Given the description of an element on the screen output the (x, y) to click on. 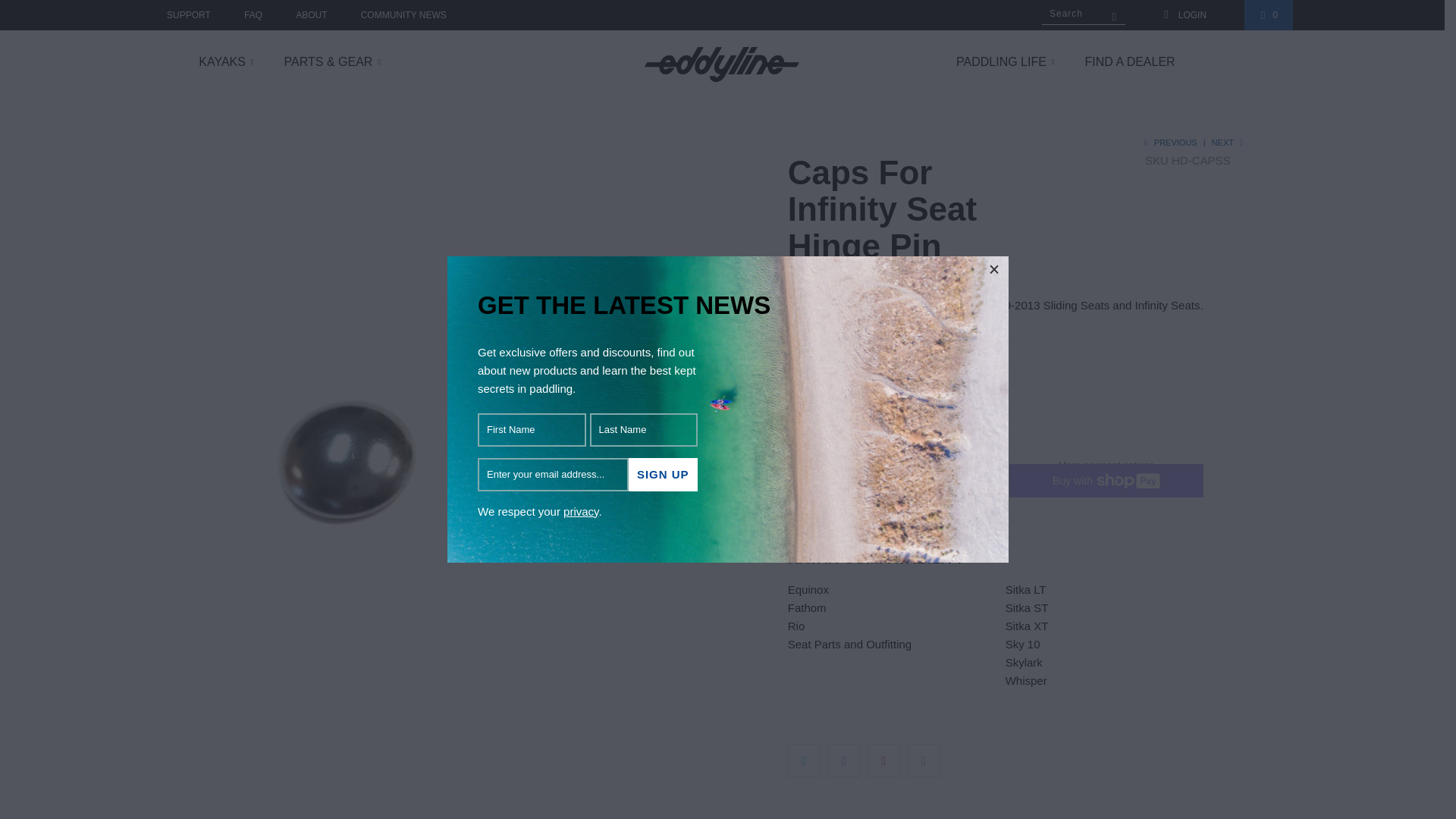
Share this on Facebook (843, 760)
Previous (1168, 142)
1 (896, 383)
Sign Up (662, 474)
Next (1228, 142)
Email this to a friend (923, 760)
My Account  (1183, 15)
Share this on Twitter (804, 760)
Eddyline Kayaks (722, 62)
Share this on Pinterest (883, 760)
